Given the description of an element on the screen output the (x, y) to click on. 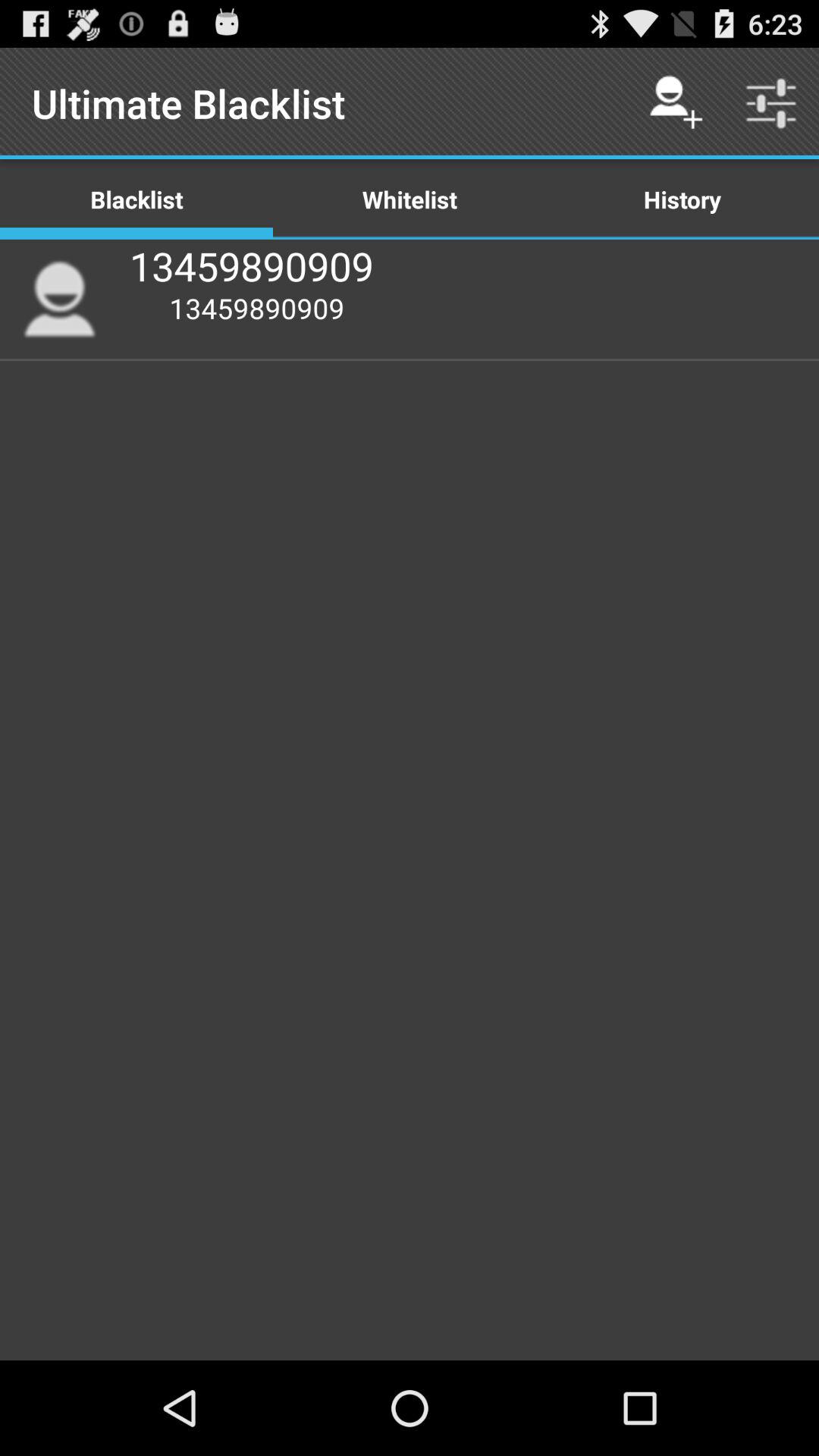
press item at the top (409, 199)
